Given the description of an element on the screen output the (x, y) to click on. 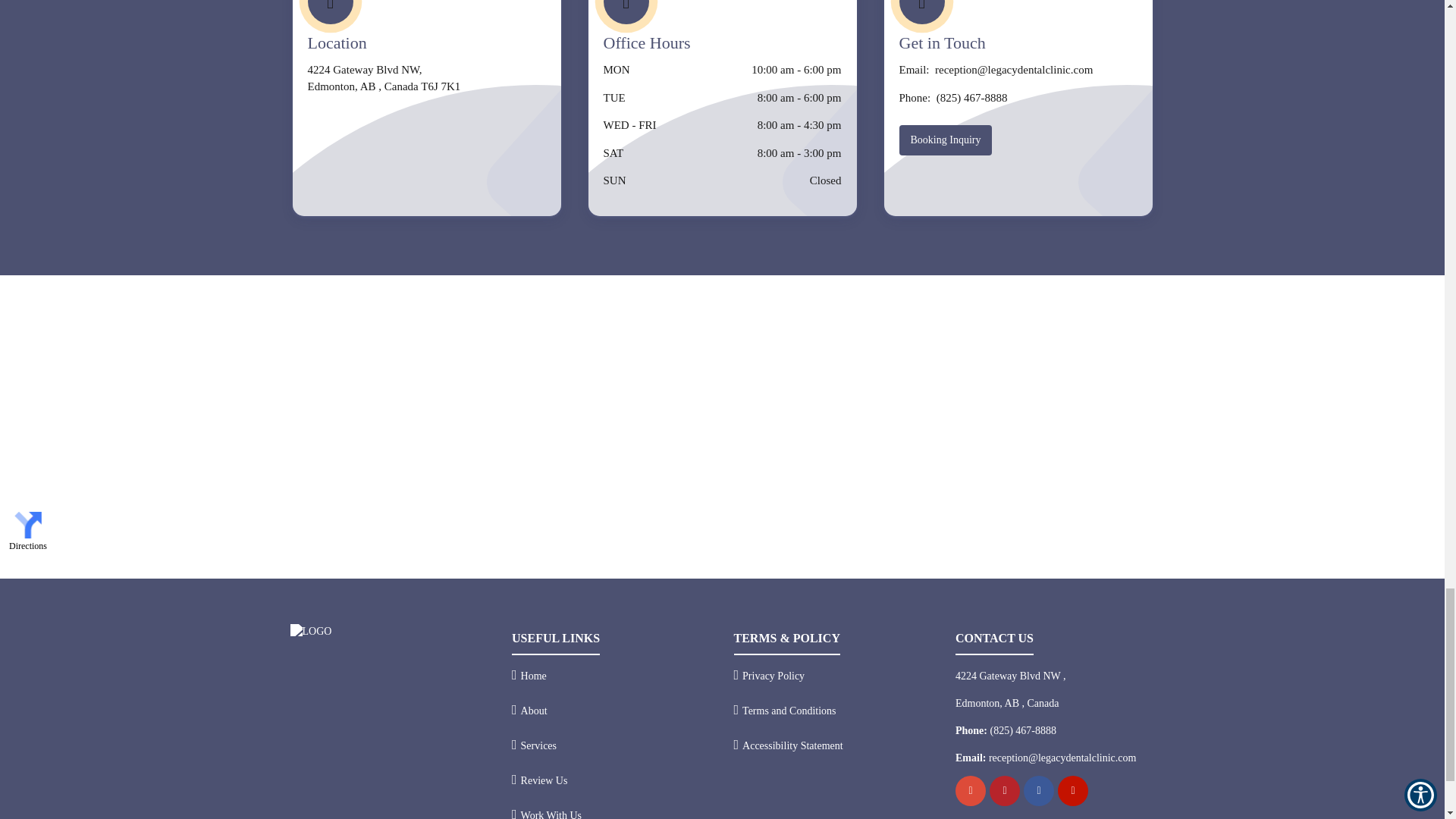
LOGO (310, 631)
